Given the description of an element on the screen output the (x, y) to click on. 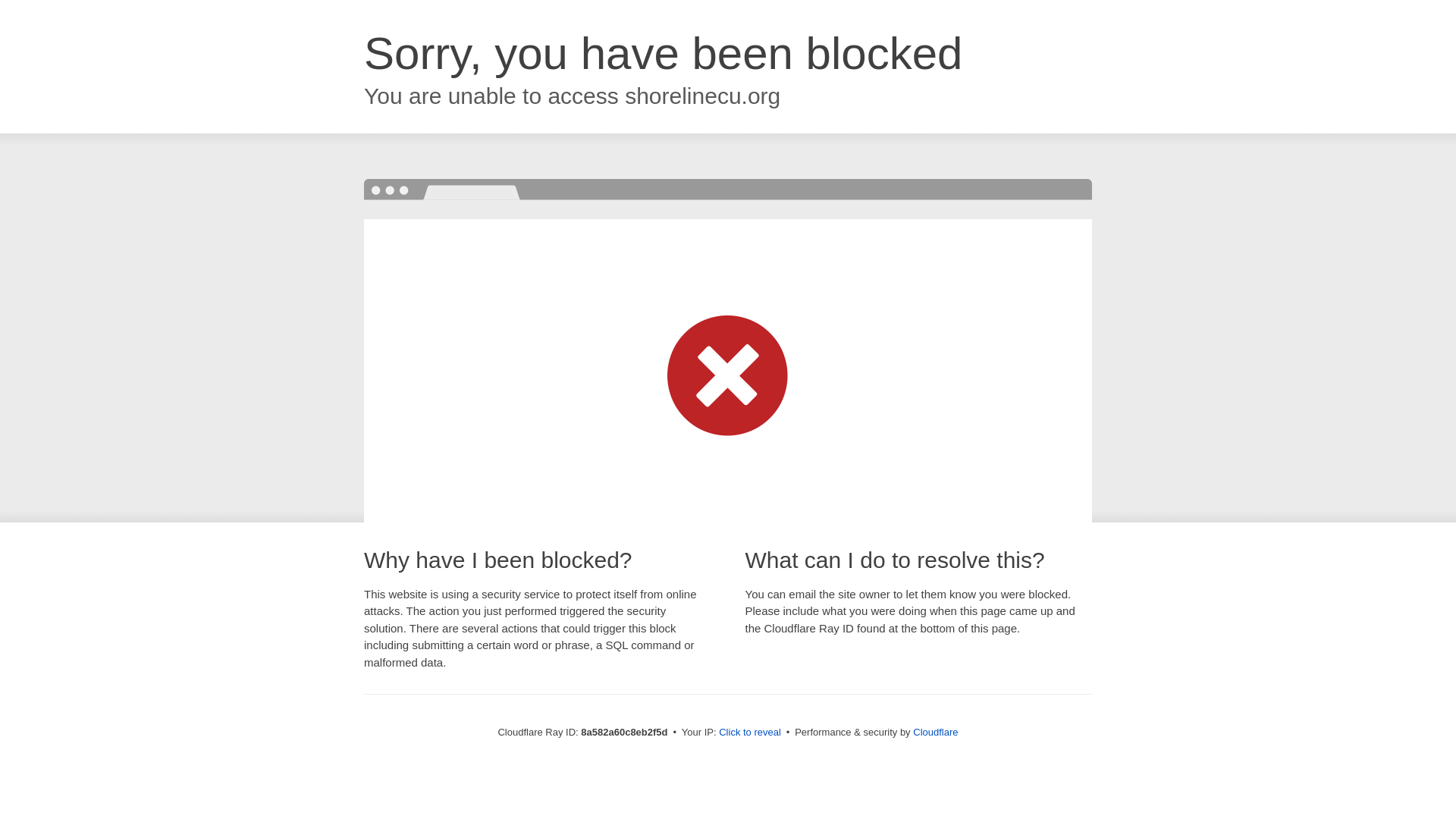
Click to reveal (749, 732)
Cloudflare (935, 731)
